Given the description of an element on the screen output the (x, y) to click on. 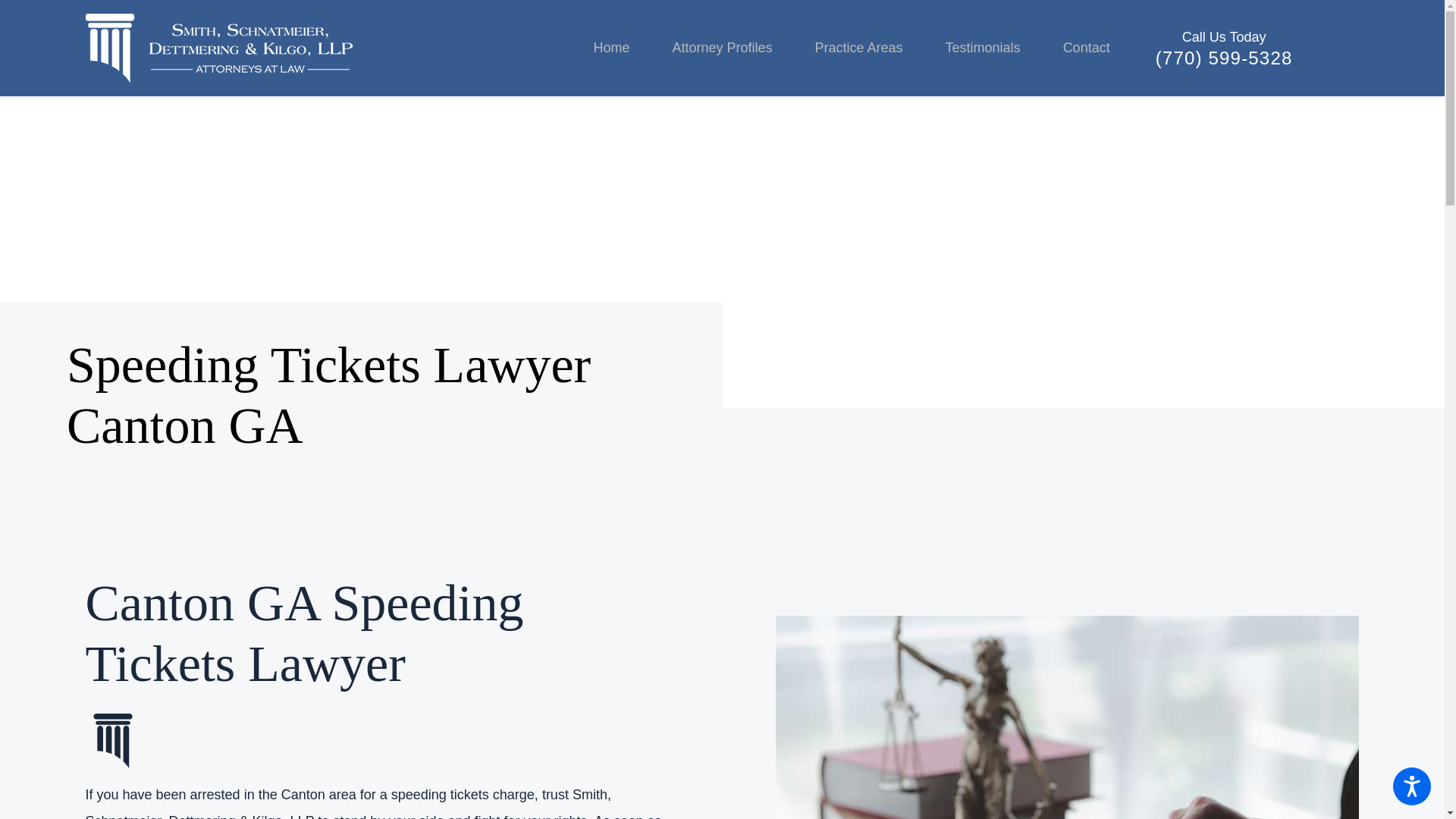
Home (621, 48)
Practice Areas (858, 48)
Open the accessibility options menu (1412, 786)
Attorney Profiles (721, 48)
